Given the description of an element on the screen output the (x, y) to click on. 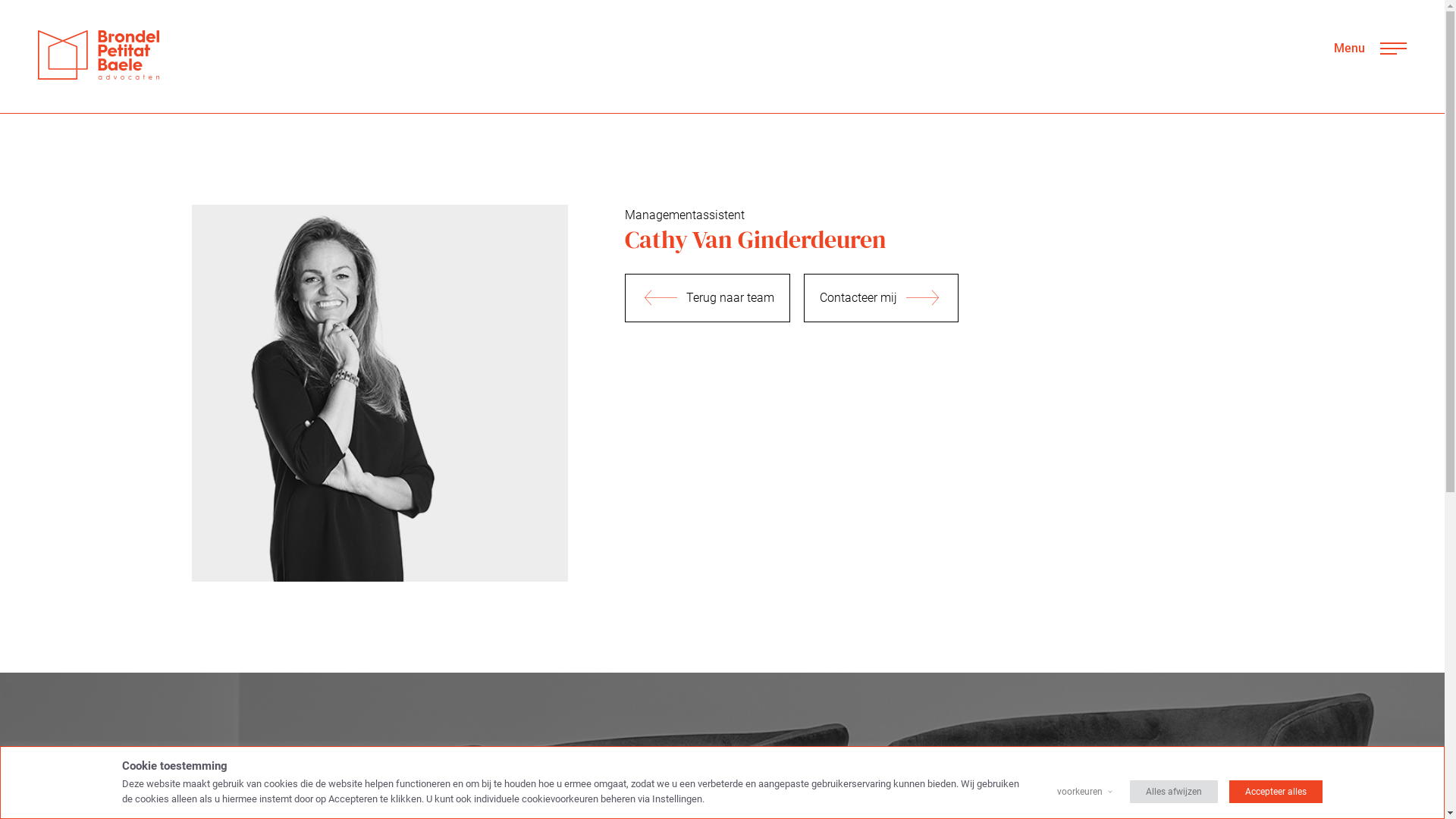
Menu Element type: text (1369, 47)
Alles afwijzen Element type: text (1173, 791)
Terug naar team Element type: text (707, 297)
voorkeuren Element type: text (1079, 791)
Contacteer mij Element type: text (880, 297)
Accepteer alles Element type: text (1275, 791)
